Given the description of an element on the screen output the (x, y) to click on. 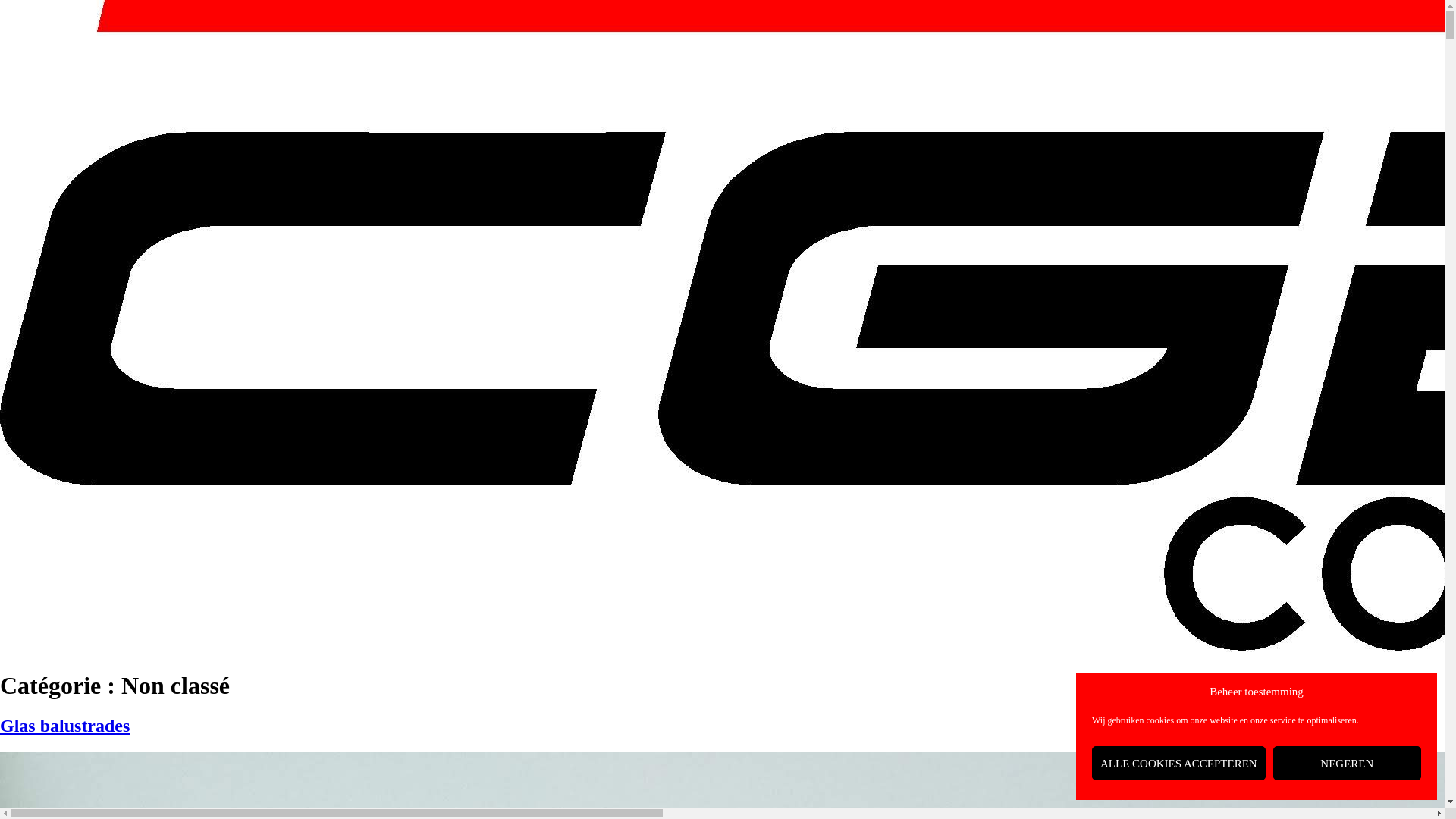
Glas balustrades Element type: text (64, 725)
ALLE COOKIES ACCEPTEREN Element type: text (1178, 763)
NEGEREN Element type: text (1347, 763)
